Given the description of an element on the screen output the (x, y) to click on. 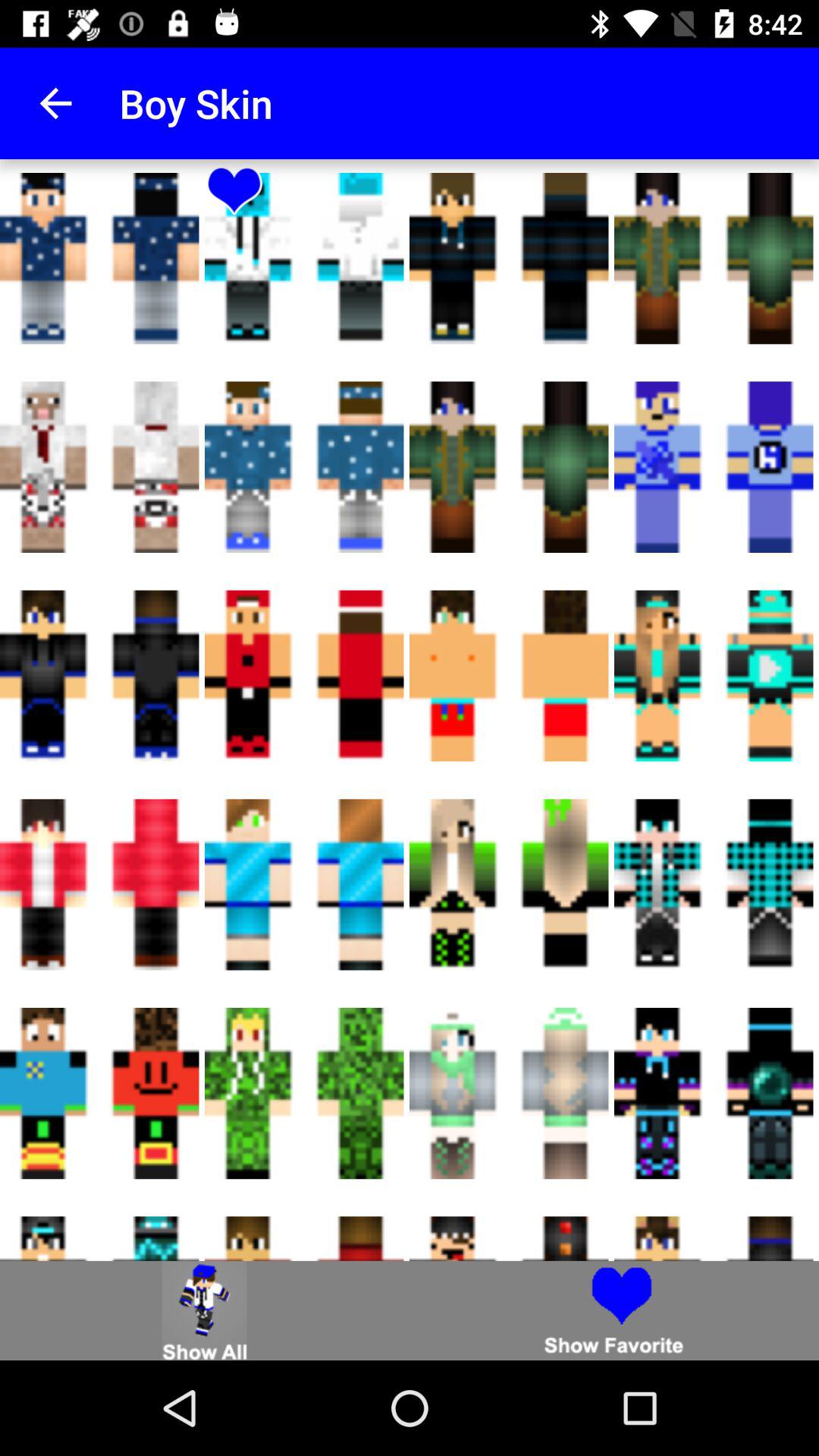
tap item next to the boy skin (55, 103)
